Given the description of an element on the screen output the (x, y) to click on. 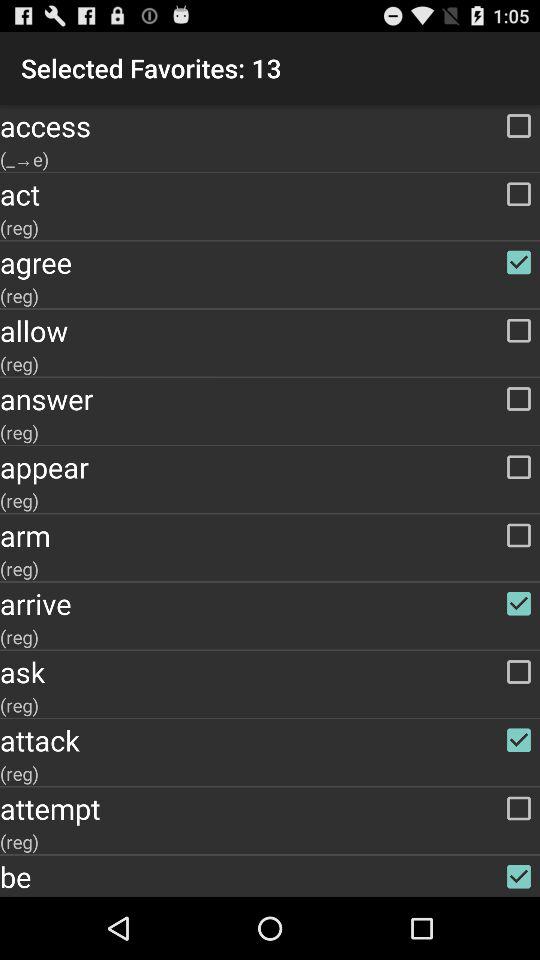
swipe to agree (270, 262)
